Given the description of an element on the screen output the (x, y) to click on. 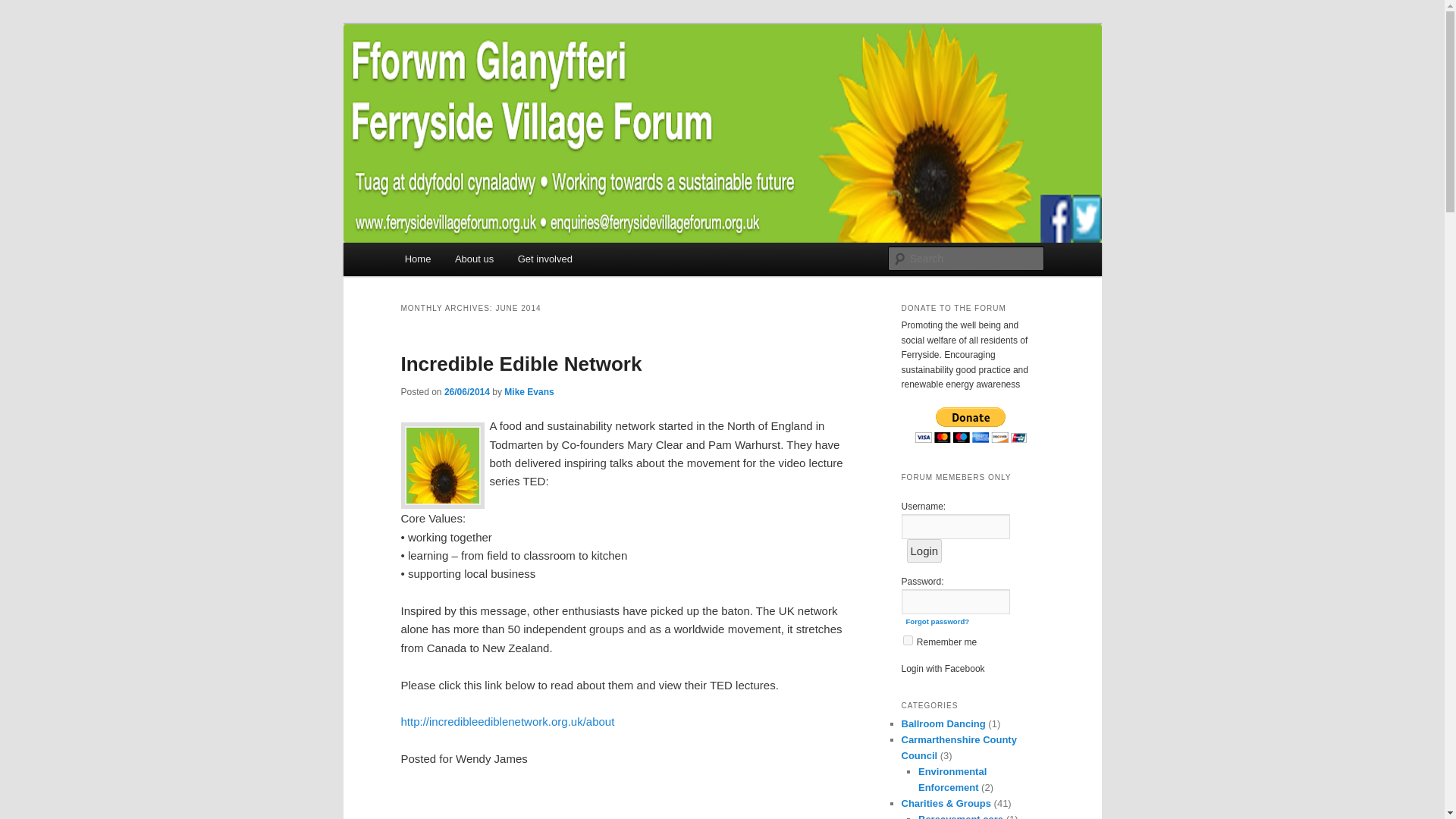
Mike Evans (528, 391)
Incredible Edible Network (521, 363)
Ferryside Village Forum (529, 78)
Permalink to Incredible Edible Network (521, 363)
Home (417, 258)
Skip to secondary content (479, 261)
Skip to secondary content (479, 261)
9:41 am (466, 391)
Ferryside Village Forum (529, 78)
Skip to primary content (472, 261)
View all posts by Mike Evans (528, 391)
Get involved (545, 258)
forever (907, 640)
About us (473, 258)
Skip to primary content (472, 261)
